Given the description of an element on the screen output the (x, y) to click on. 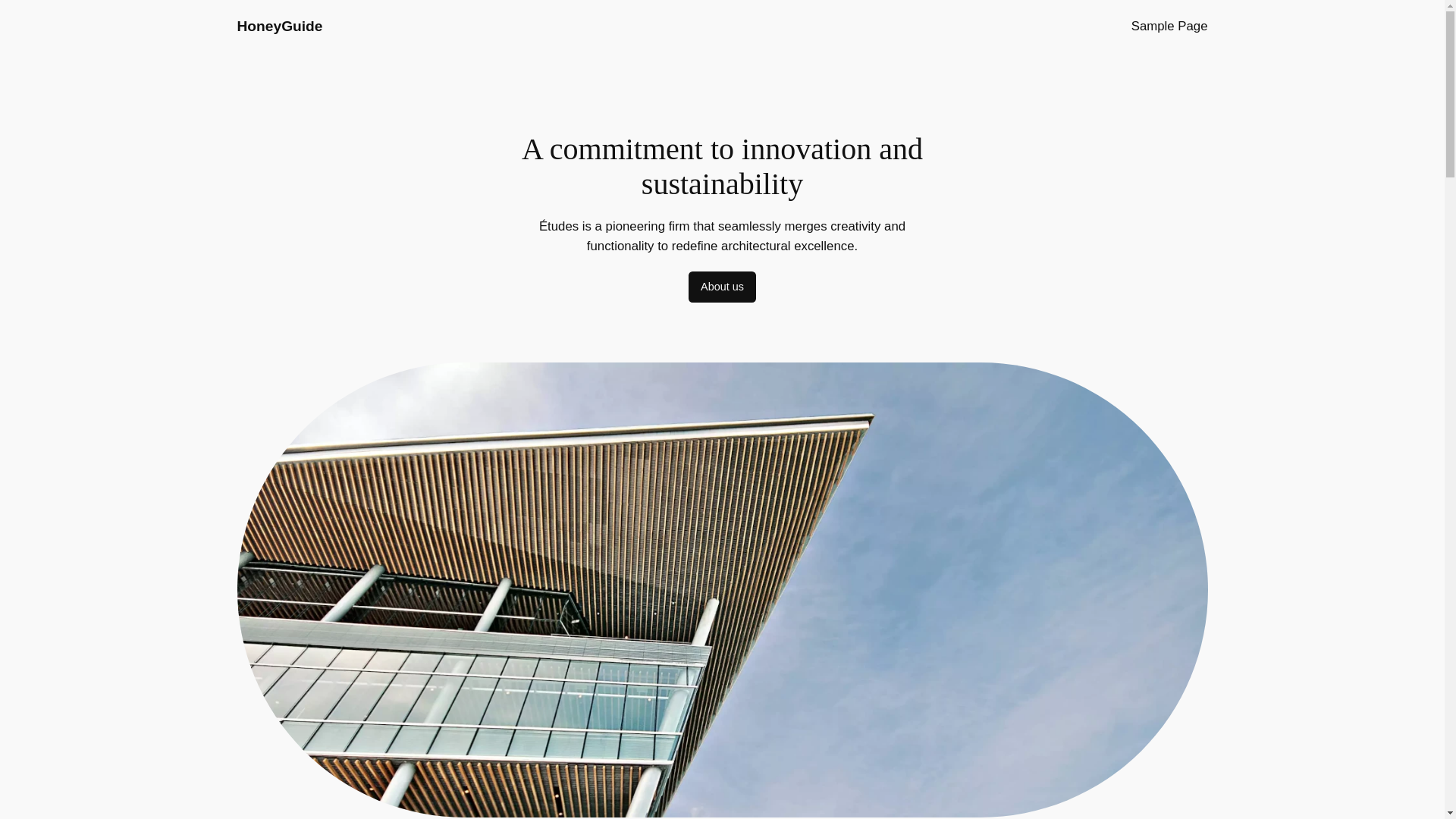
About us (721, 287)
HoneyGuide (278, 26)
Sample Page (1169, 26)
